Given the description of an element on the screen output the (x, y) to click on. 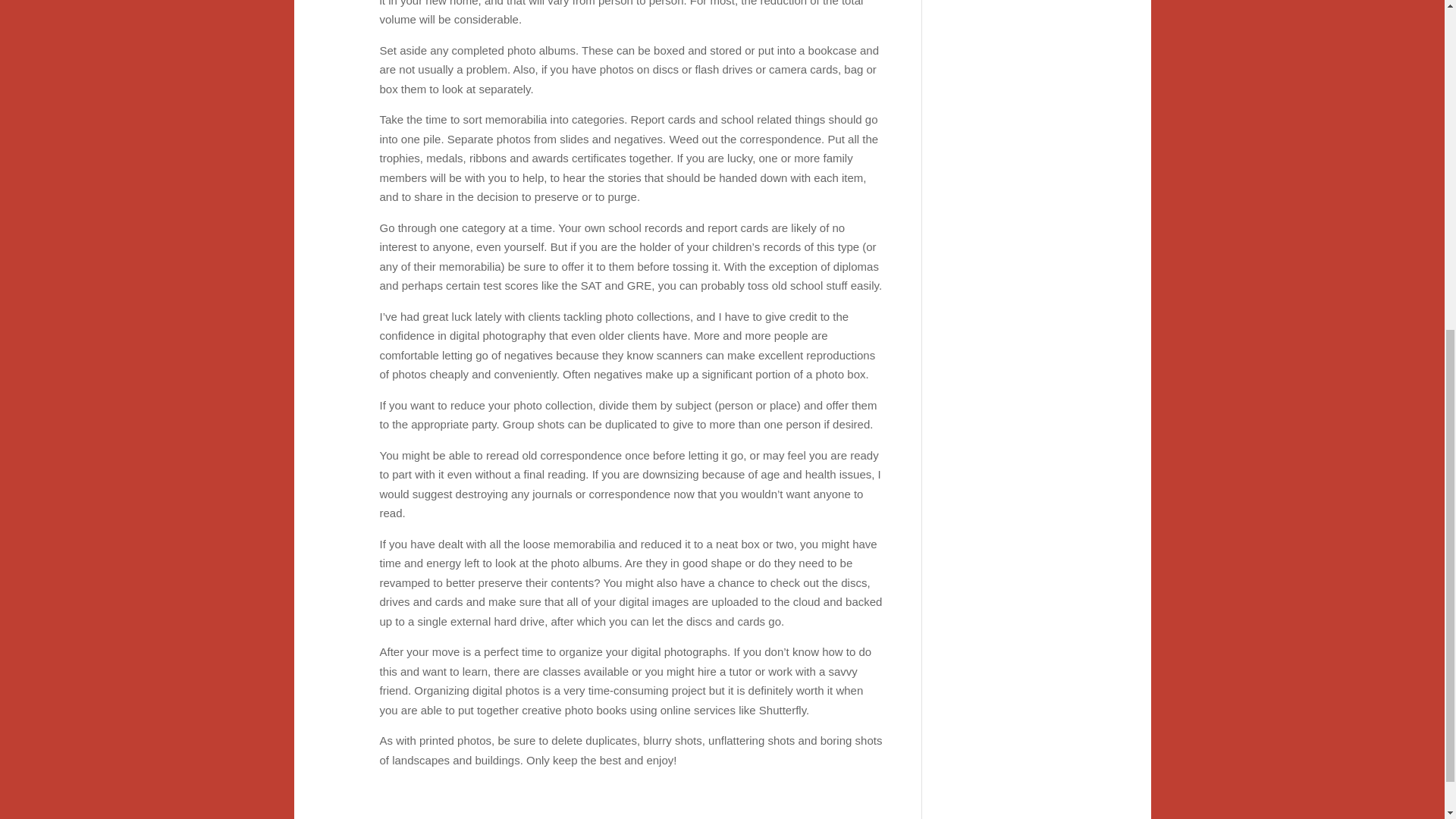
The Rewards of a Bad Habit Fast (999, 265)
The Perils of Over-Organization (999, 326)
Essential Organizing Supplies (999, 34)
What the Garden Taught Me (999, 95)
Yes You Can! (999, 442)
Holiday Transitions (999, 753)
Good Manners (999, 210)
Invisible Clutter (999, 658)
Party Planning (999, 489)
End of Year Gathering (999, 605)
